Given the description of an element on the screen output the (x, y) to click on. 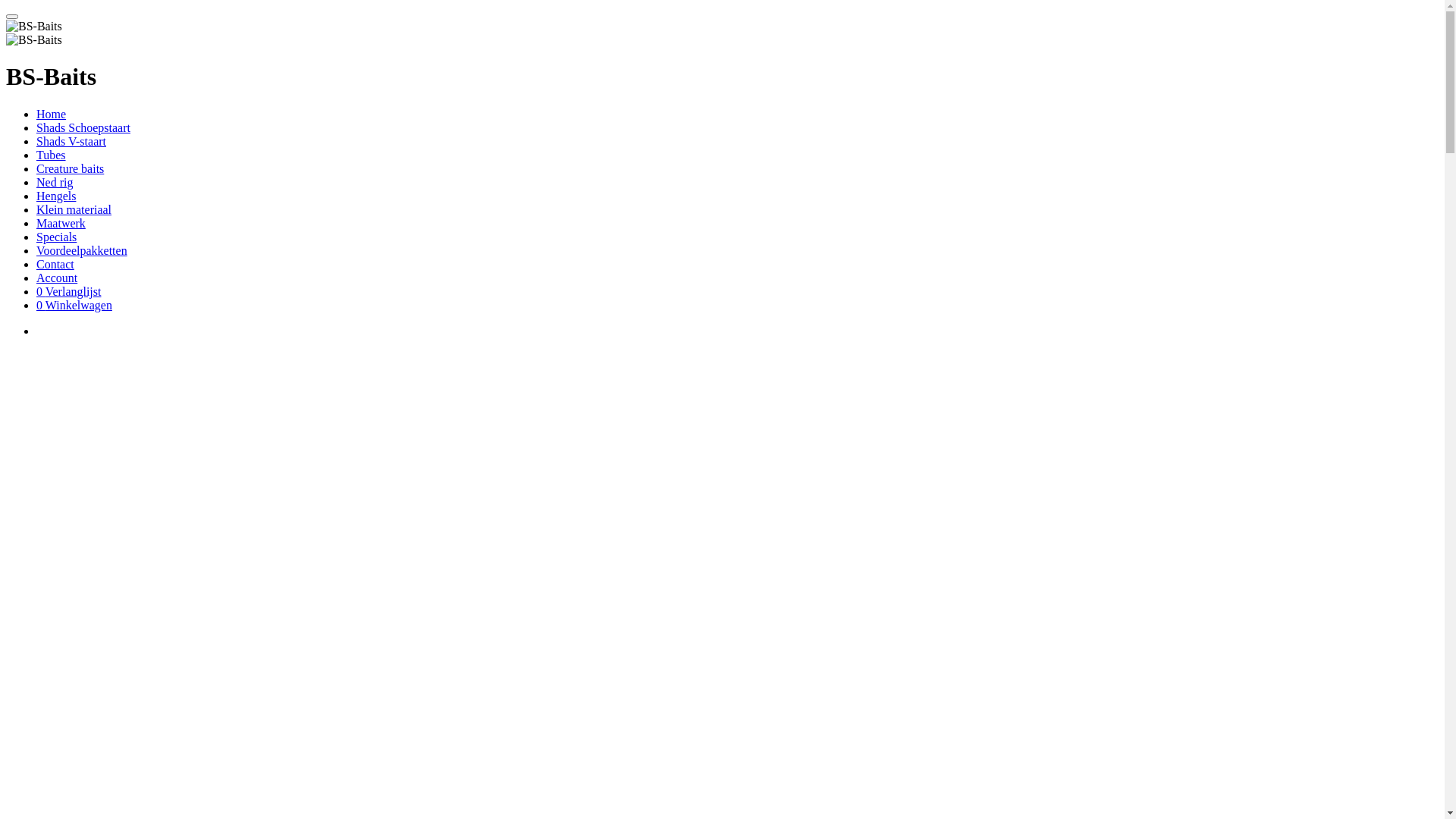
Klein materiaal Element type: text (73, 209)
0 Verlanglijst Element type: text (68, 291)
BS-Baits Element type: hover (34, 40)
Account Element type: text (56, 277)
Shads Schoepstaart Element type: text (83, 127)
Shads V-staart Element type: text (71, 140)
Creature baits Element type: text (69, 168)
Voordeelpakketten Element type: text (81, 250)
Contact Element type: text (55, 263)
Specials Element type: text (56, 236)
BS-Baits Element type: hover (34, 26)
Maatwerk Element type: text (60, 222)
Hengels Element type: text (55, 195)
0 Winkelwagen Element type: text (74, 304)
Home Element type: text (50, 113)
Ned rig Element type: text (54, 181)
Tubes Element type: text (50, 154)
